Given the description of an element on the screen output the (x, y) to click on. 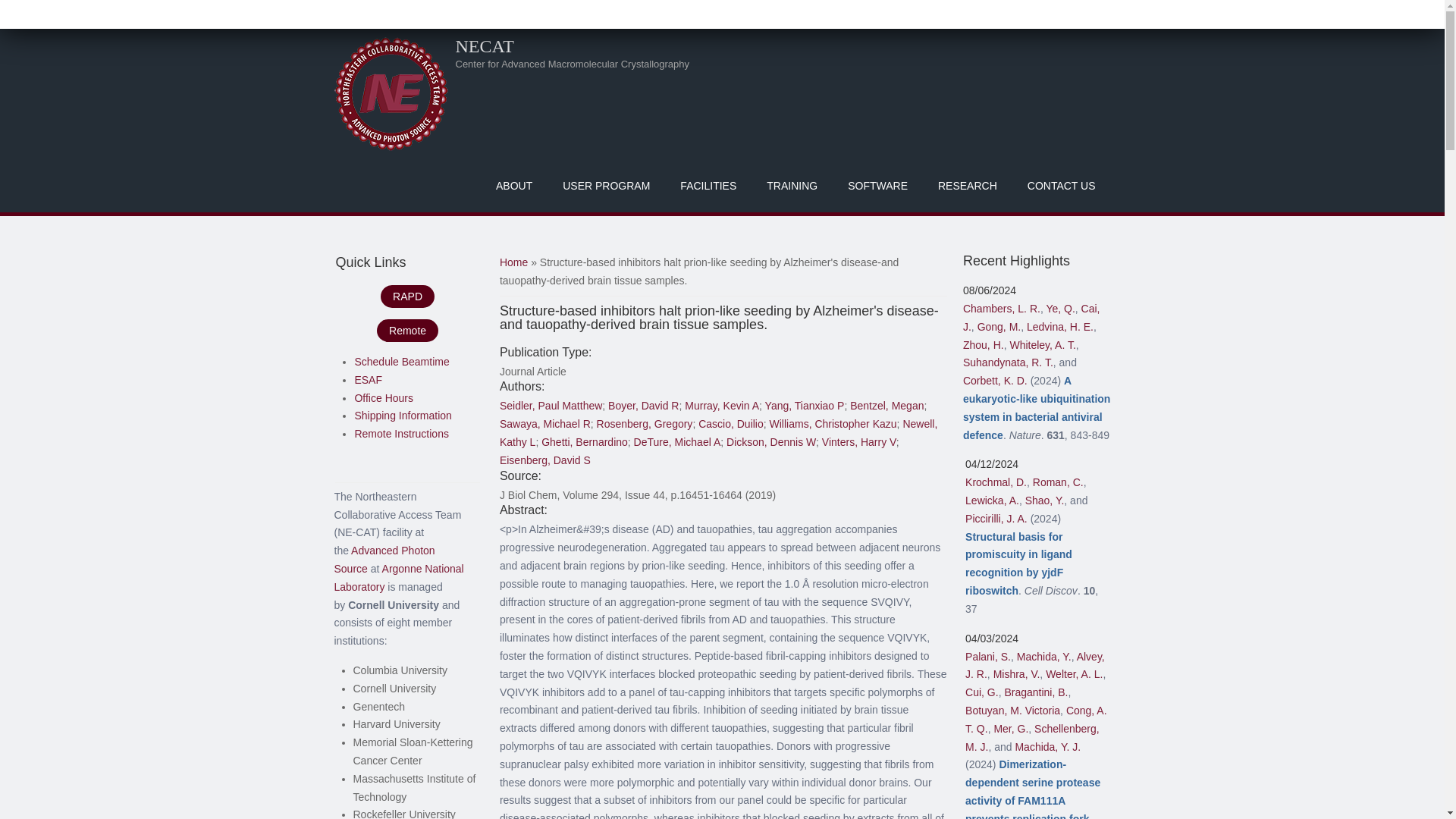
NECAT (483, 45)
Home (483, 45)
ABOUT (513, 185)
Home (389, 93)
USER PROGRAM (606, 185)
